Given the description of an element on the screen output the (x, y) to click on. 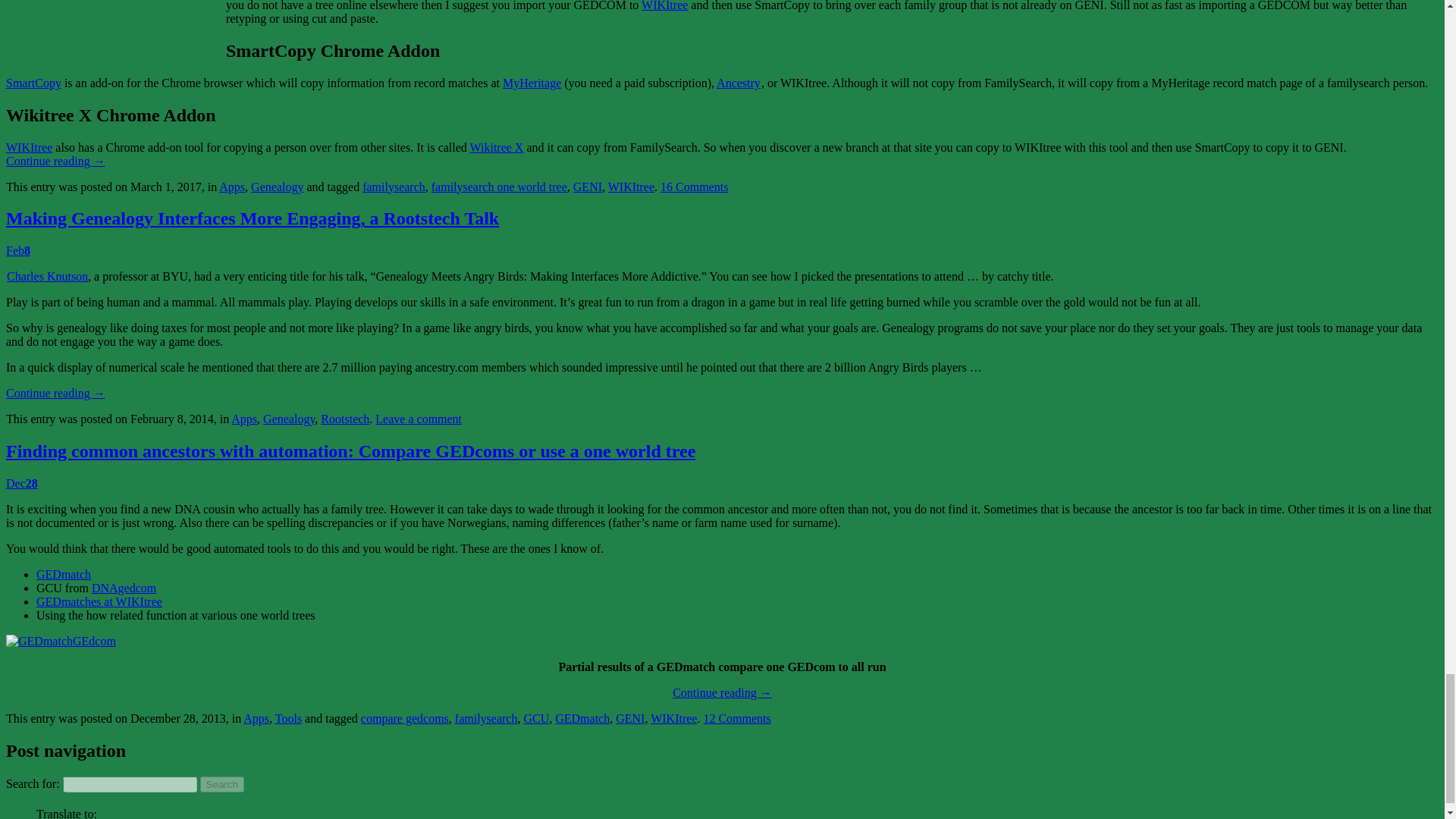
December 28, 2013 (21, 482)
February 8, 2014 (17, 250)
Search (222, 784)
